Given the description of an element on the screen output the (x, y) to click on. 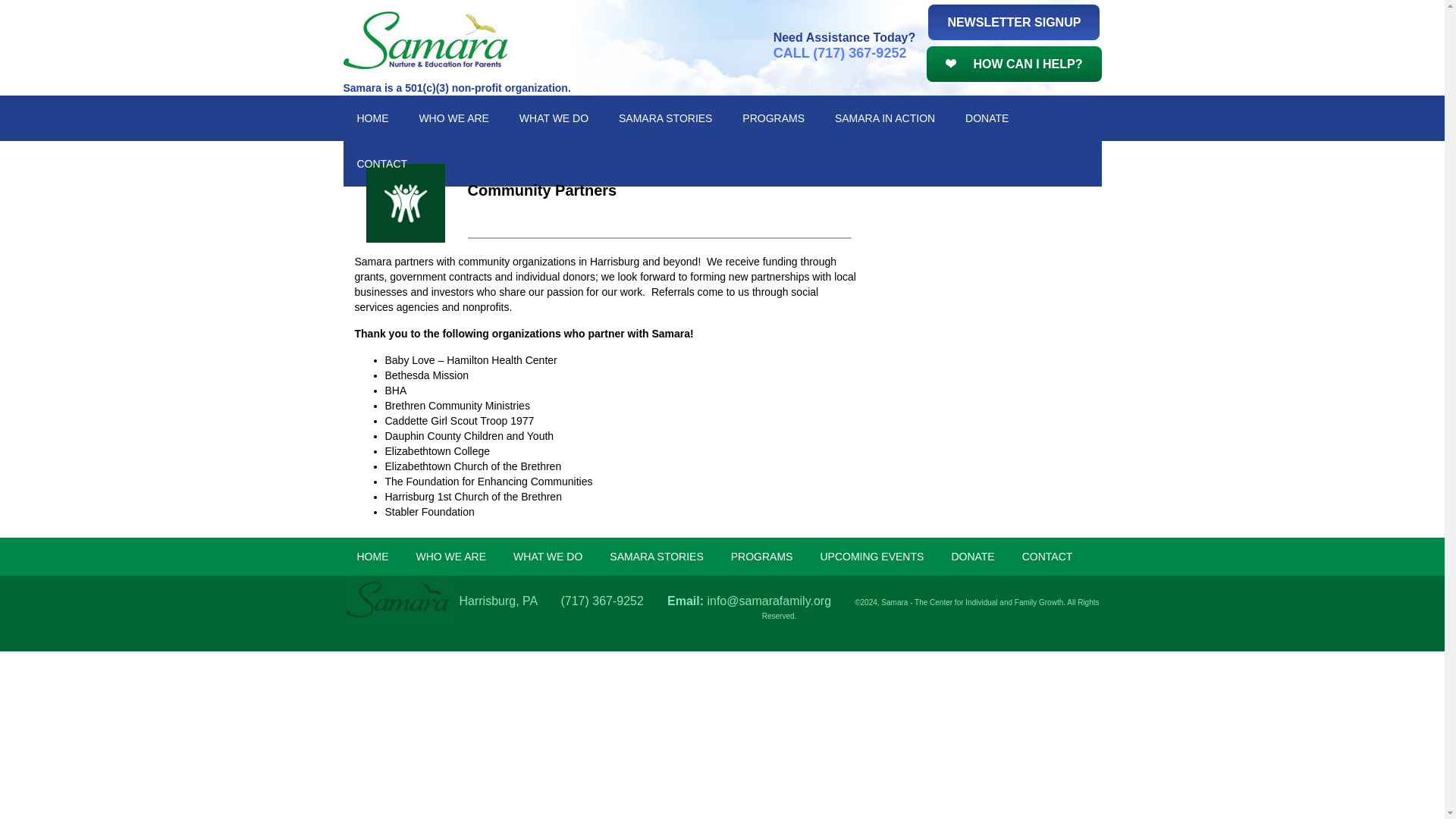
WHO WE ARE (453, 117)
CONTACT (1047, 556)
DONATE (987, 117)
SAMARA IN ACTION (885, 117)
PROGRAMS (773, 117)
WHAT WE DO (553, 117)
SAMARA STORIES (665, 117)
PROGRAMS (761, 556)
SAMARA STORIES (655, 556)
HOME (371, 556)
